Given the description of an element on the screen output the (x, y) to click on. 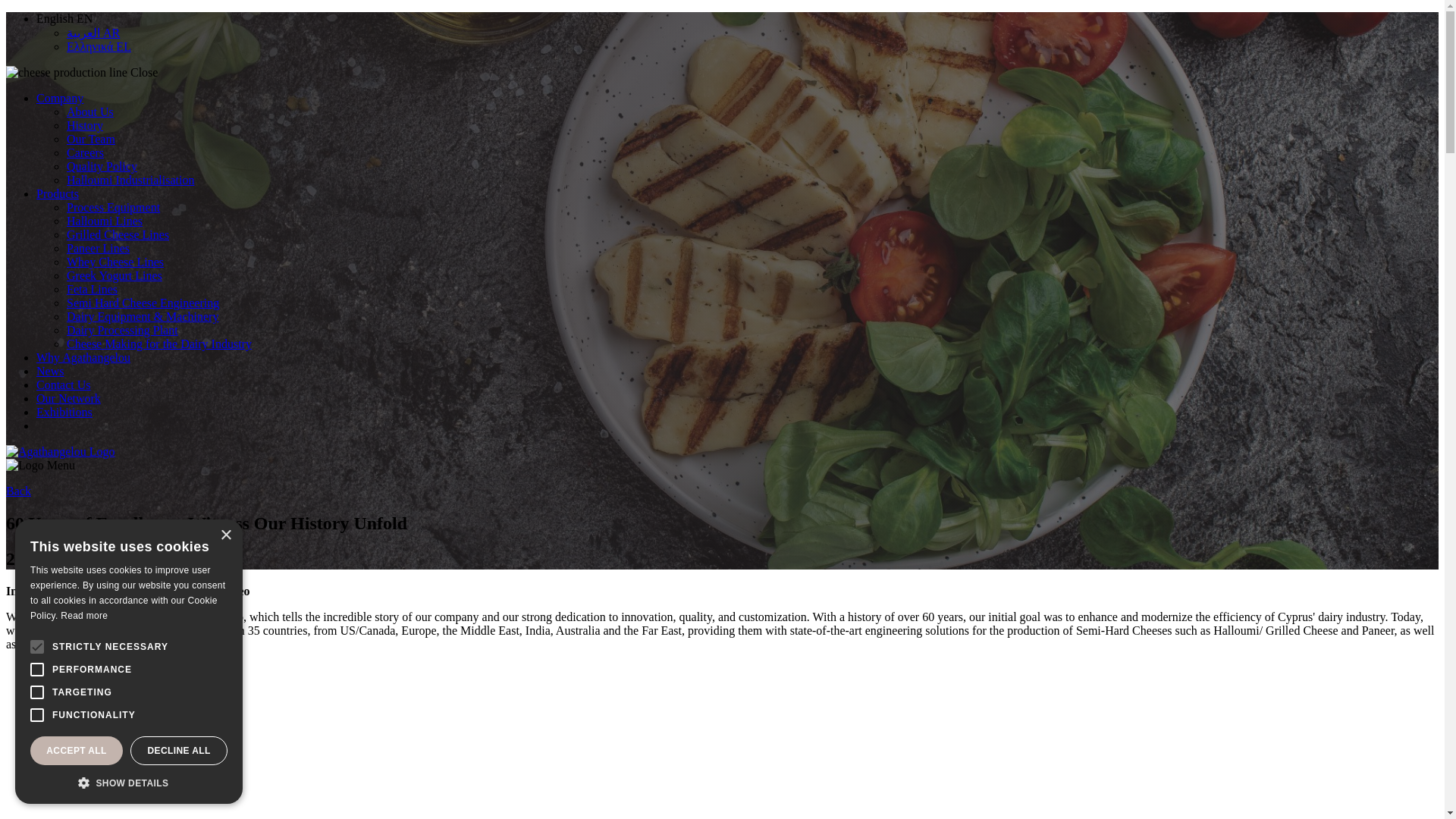
About Us (89, 111)
Semi Hard Cheese Engineering (142, 302)
Feta Lines (91, 288)
English EN (64, 18)
Contact Us (63, 384)
Cheese Making for the Dairy Industry (158, 343)
Our Network (68, 398)
Our Team (90, 138)
Back (17, 490)
Dairy Processing Plant (121, 329)
History (84, 124)
Quality Policy (101, 165)
Careers (84, 152)
Process Equipment (113, 206)
News (50, 370)
